Given the description of an element on the screen output the (x, y) to click on. 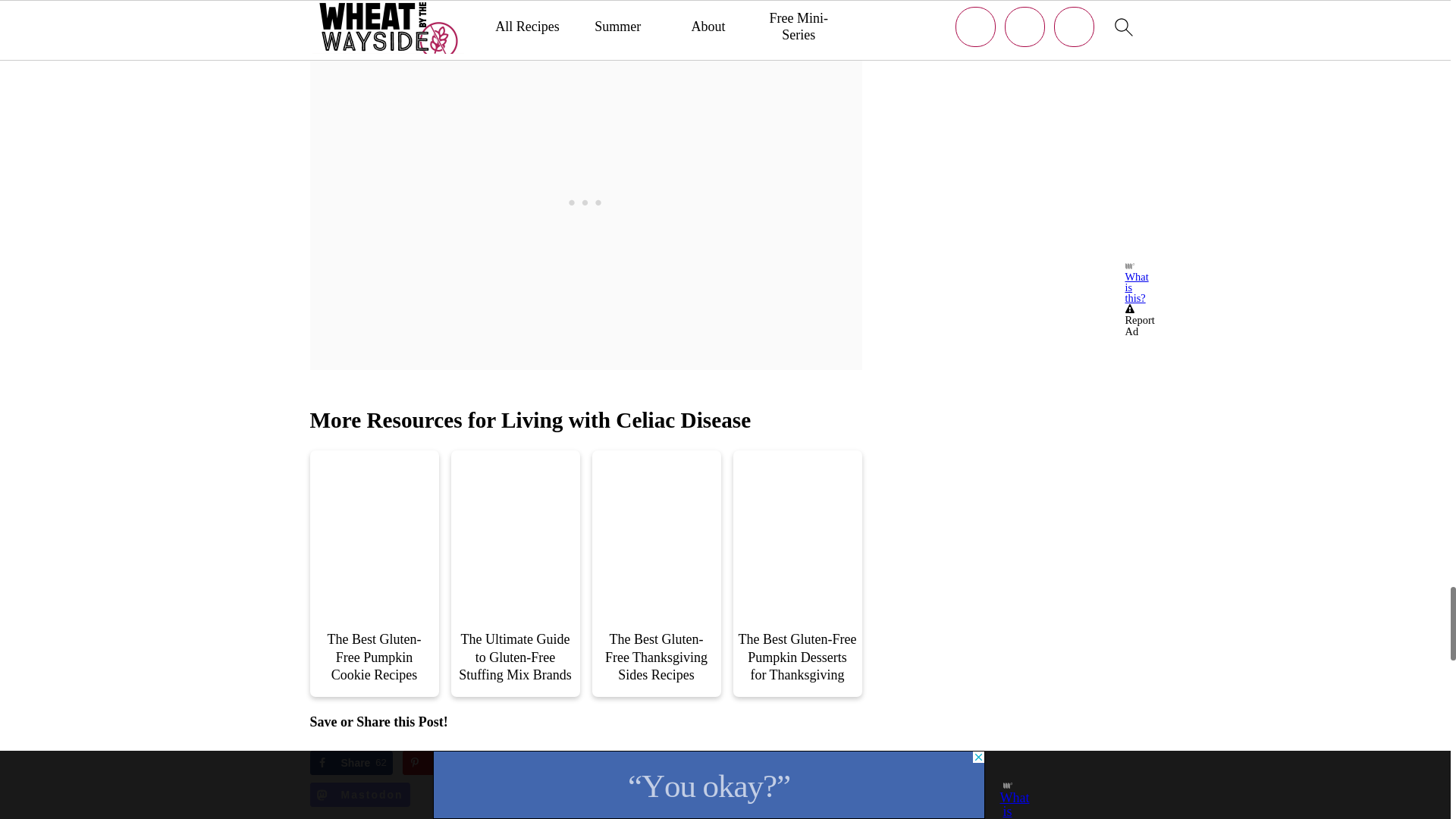
Share on Flipboard (607, 762)
Share on Facebook (350, 762)
Share on Reddit (518, 762)
Share on Threads (700, 762)
Share on Mastodon (358, 794)
Save to Pinterest (438, 762)
